Given the description of an element on the screen output the (x, y) to click on. 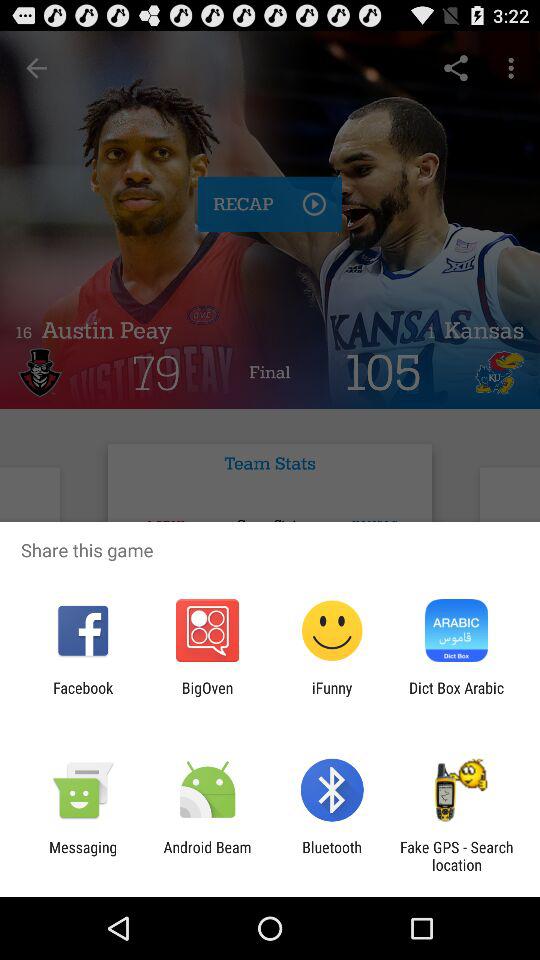
turn on bluetooth app (331, 856)
